Given the description of an element on the screen output the (x, y) to click on. 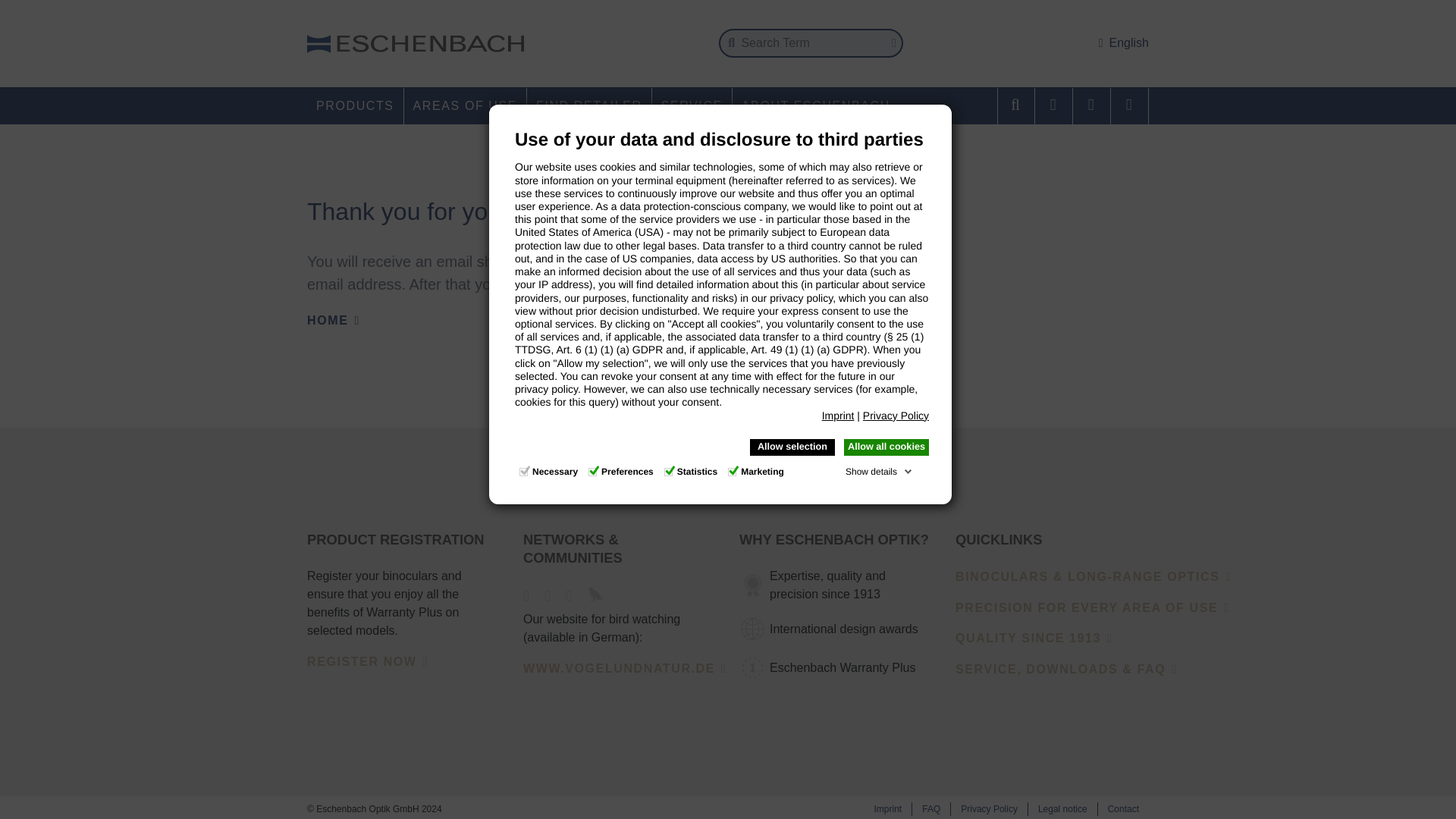
Privacy Policy (895, 415)
Imprint (838, 415)
Show details (879, 471)
Allow all cookies (886, 446)
Allow selection (791, 446)
